Given the description of an element on the screen output the (x, y) to click on. 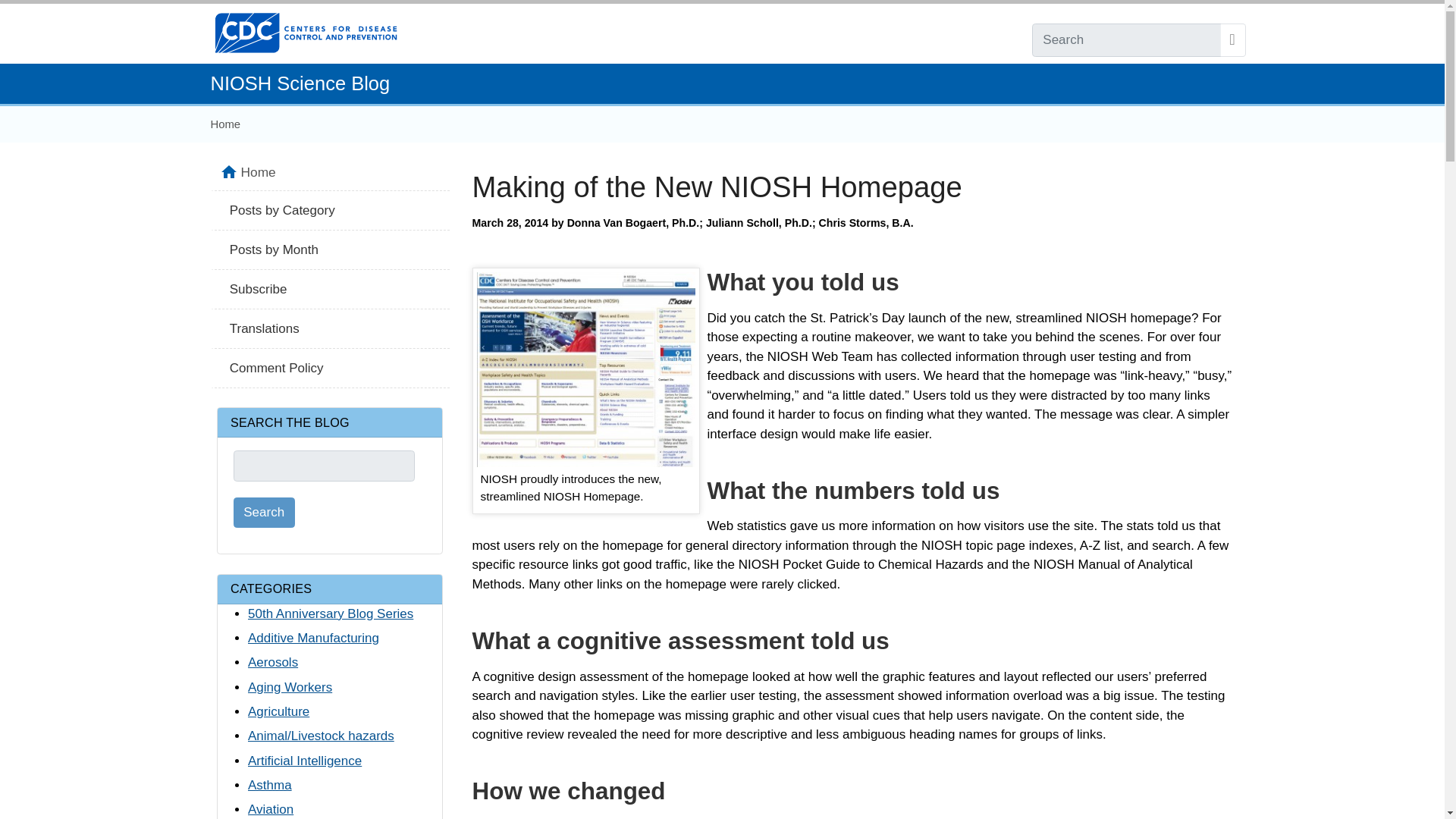
Home (226, 124)
Subscribe (330, 289)
NIOSH Science Blog (300, 83)
Posts by Month (330, 250)
NIOSH Science Blog (300, 83)
Home (342, 172)
Posts by Category (330, 210)
